Given the description of an element on the screen output the (x, y) to click on. 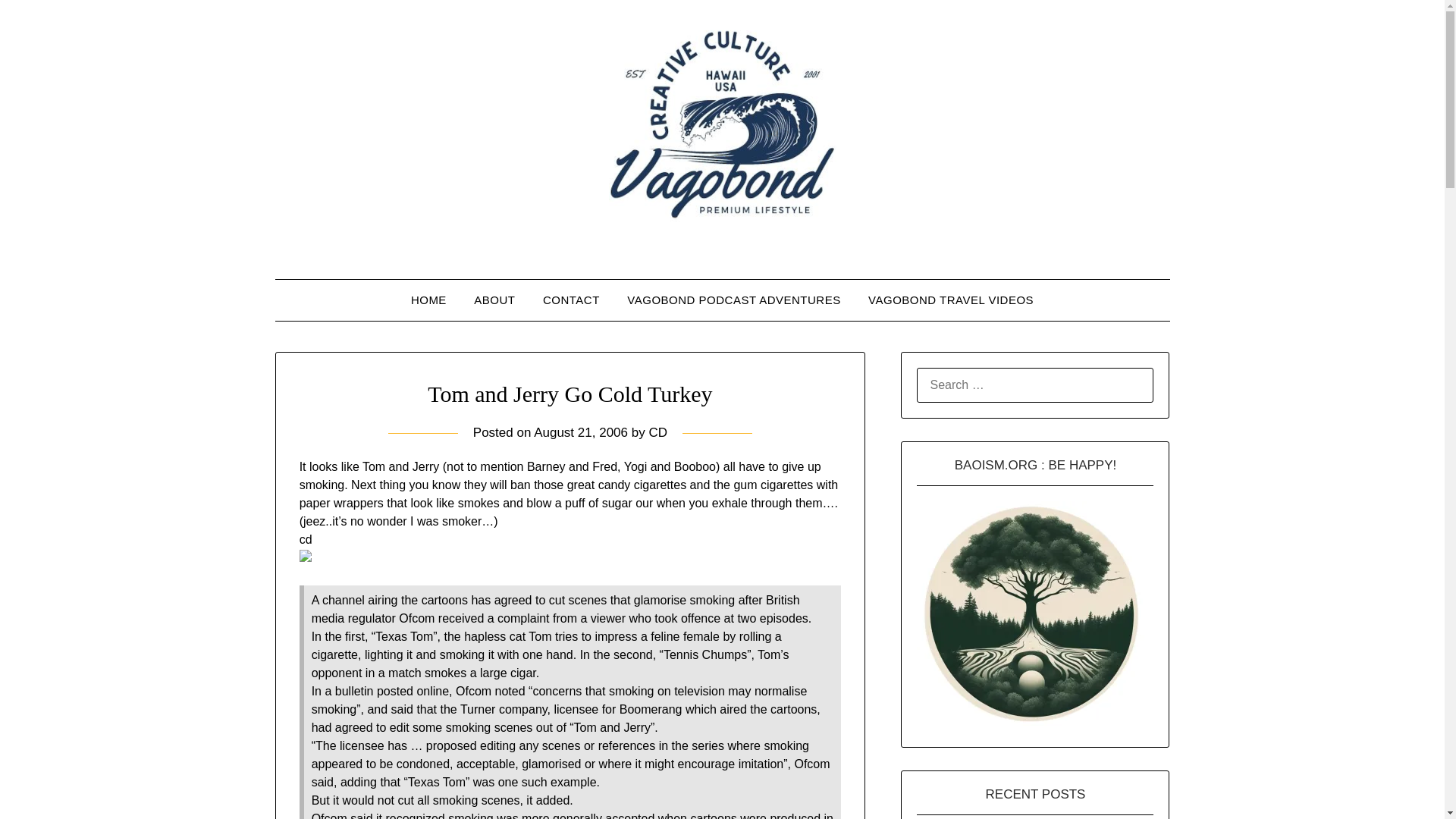
ABOUT (494, 300)
CONTACT (571, 300)
VAGOBOND PODCAST ADVENTURES (732, 300)
August 21, 2006 (580, 432)
HOME (428, 300)
VAGOBOND TRAVEL VIDEOS (950, 300)
CD (656, 432)
Search (38, 22)
